Given the description of an element on the screen output the (x, y) to click on. 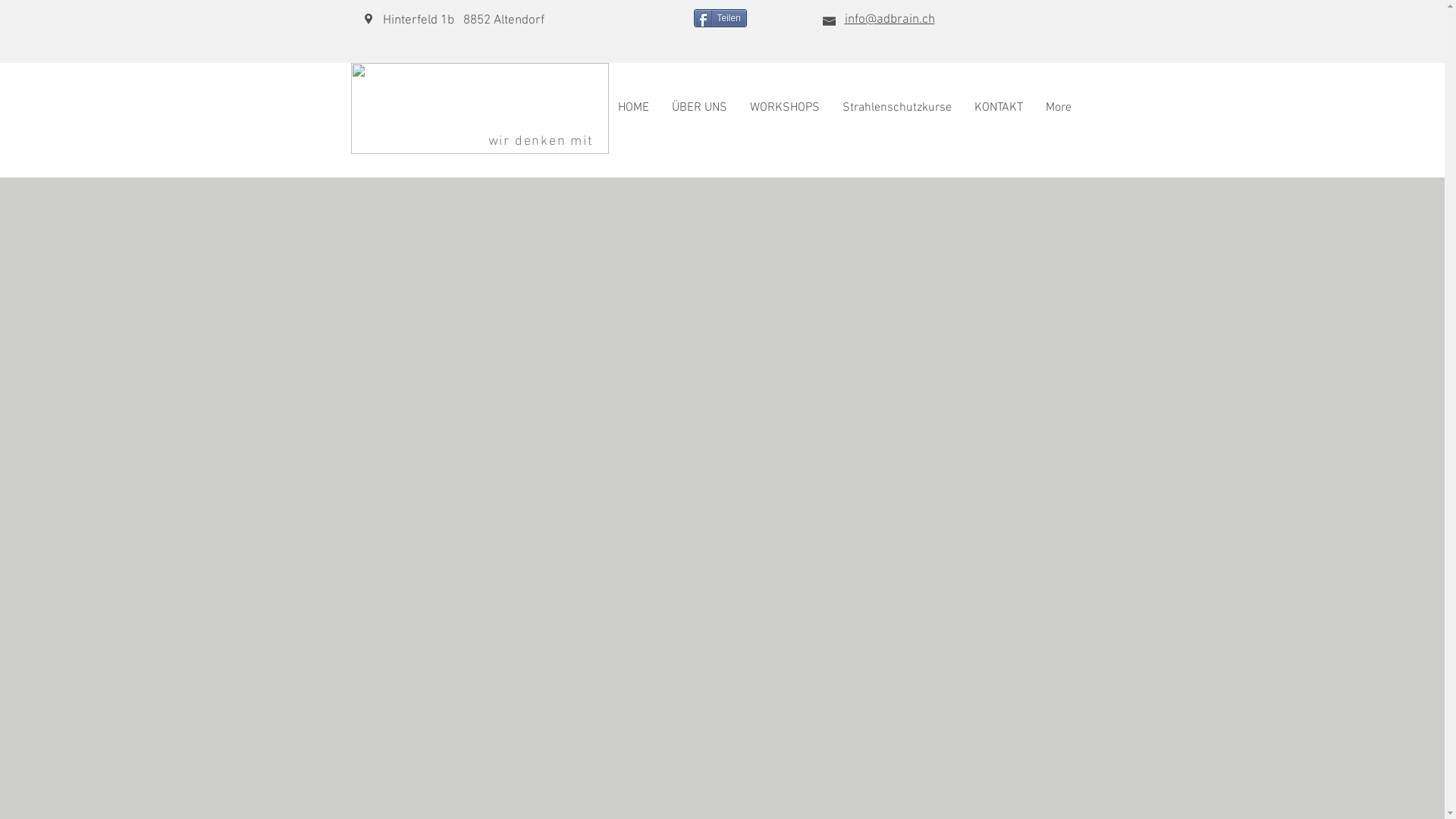
WORKSHOPS Element type: text (784, 113)
Facebook Like Element type: hover (614, 18)
Strahlenschutzkurse Element type: text (897, 113)
KONTAKT Element type: text (998, 113)
wir Element type: text (499, 141)
HOME Element type: text (633, 113)
info@adbrain.ch Element type: text (889, 18)
Teilen Element type: text (719, 18)
